Given the description of an element on the screen output the (x, y) to click on. 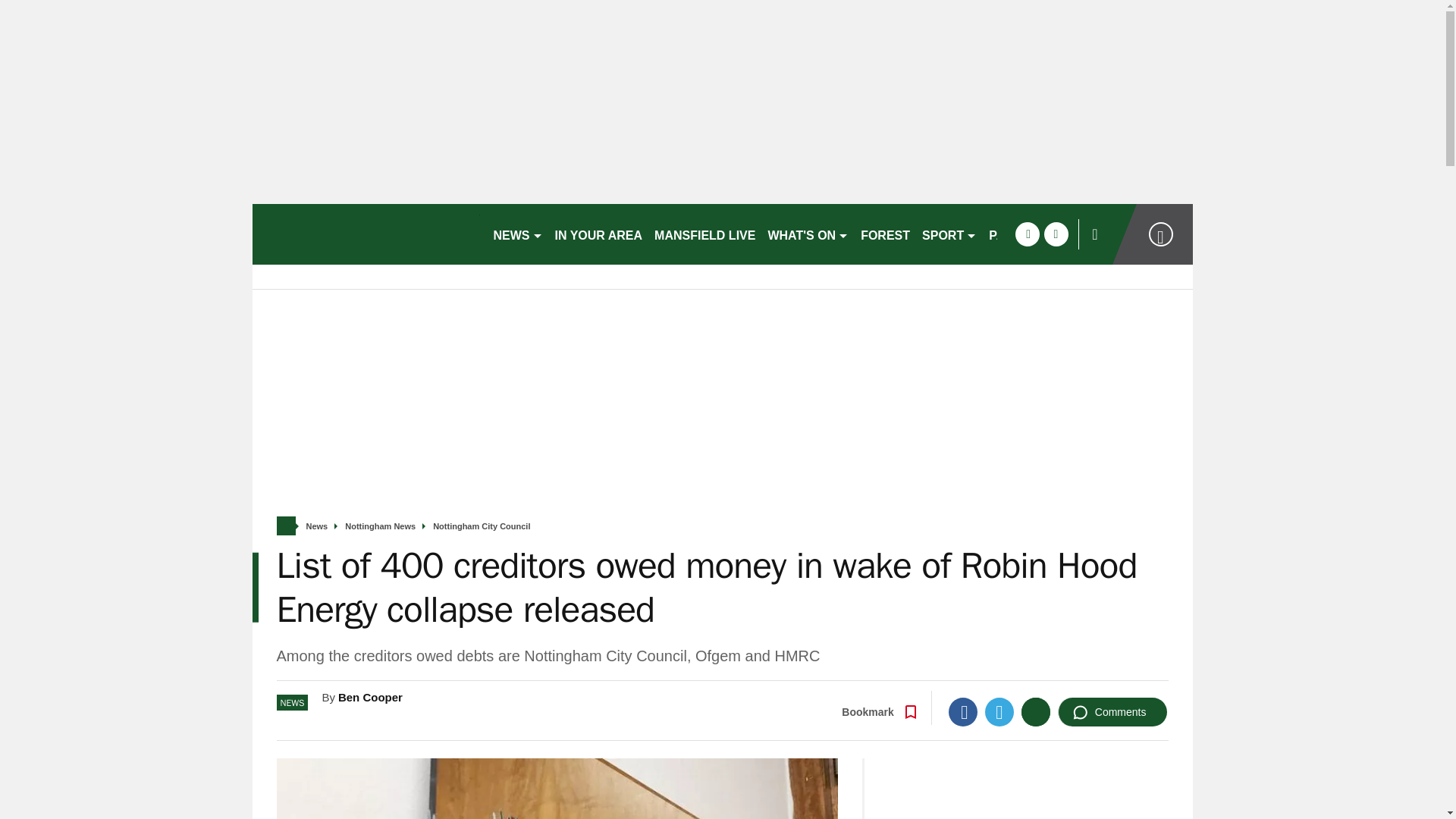
SPORT (948, 233)
Twitter (999, 711)
PARTNER STORIES (1045, 233)
IN YOUR AREA (598, 233)
facebook (1026, 233)
WHAT'S ON (807, 233)
Comments (1112, 711)
NEWS (517, 233)
Facebook (962, 711)
FOREST (884, 233)
MANSFIELD LIVE (704, 233)
twitter (1055, 233)
nottinghampost (365, 233)
